Given the description of an element on the screen output the (x, y) to click on. 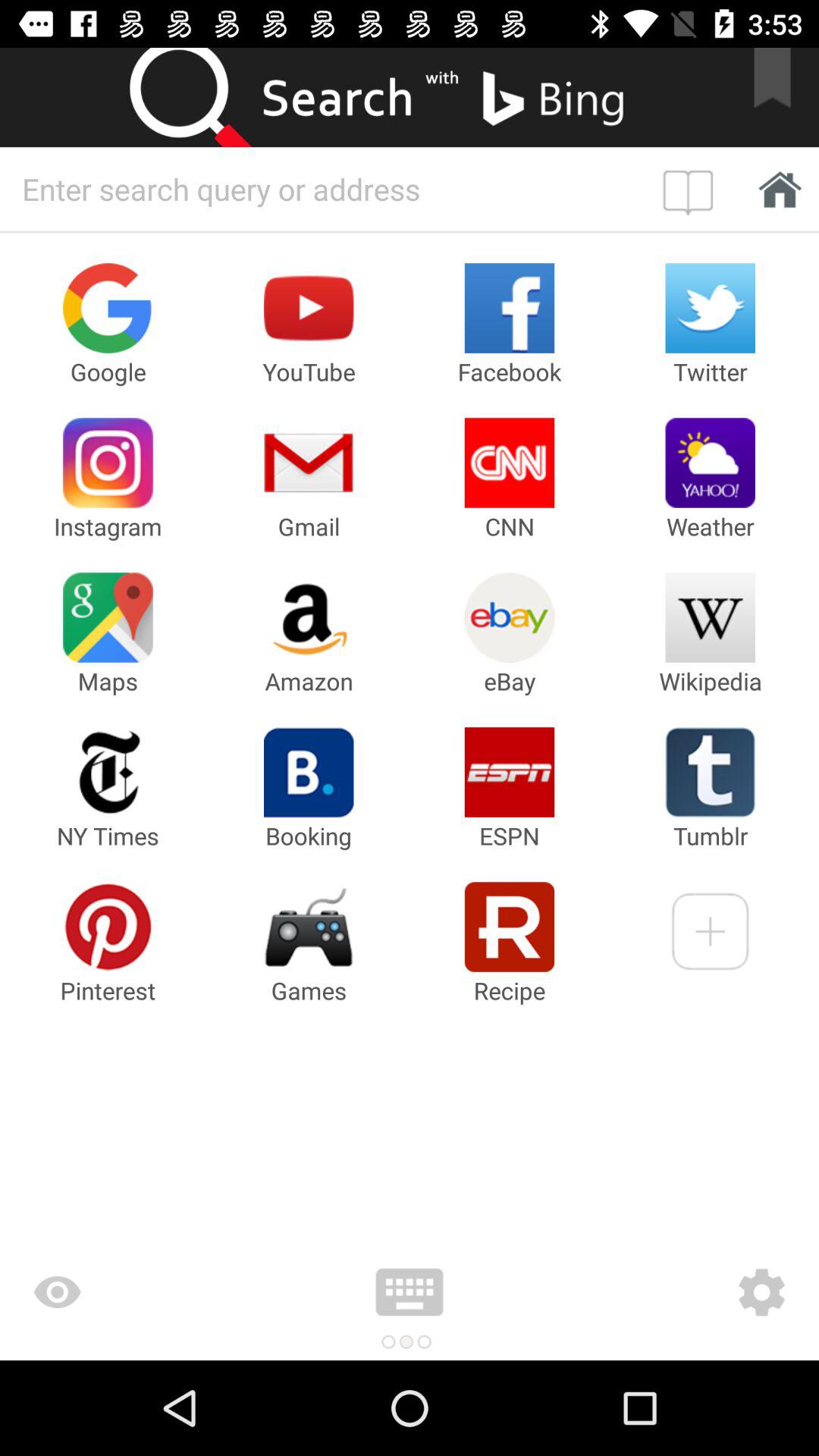
open the icon below the games app (409, 1292)
